Given the description of an element on the screen output the (x, y) to click on. 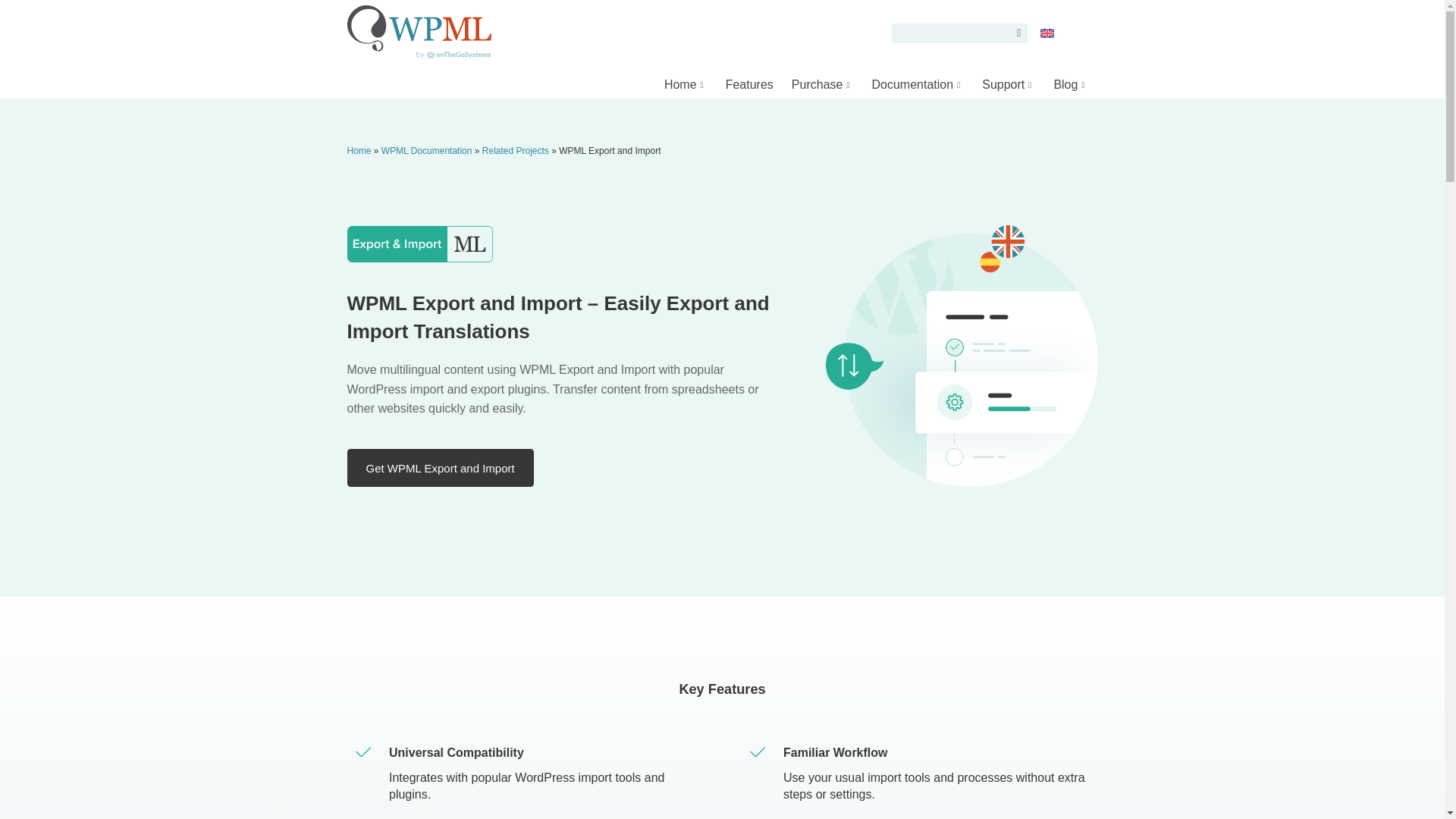
Search (1015, 33)
Search (1015, 33)
Purchase (823, 84)
Home (685, 84)
Features (749, 84)
Documentation (918, 84)
